Given the description of an element on the screen output the (x, y) to click on. 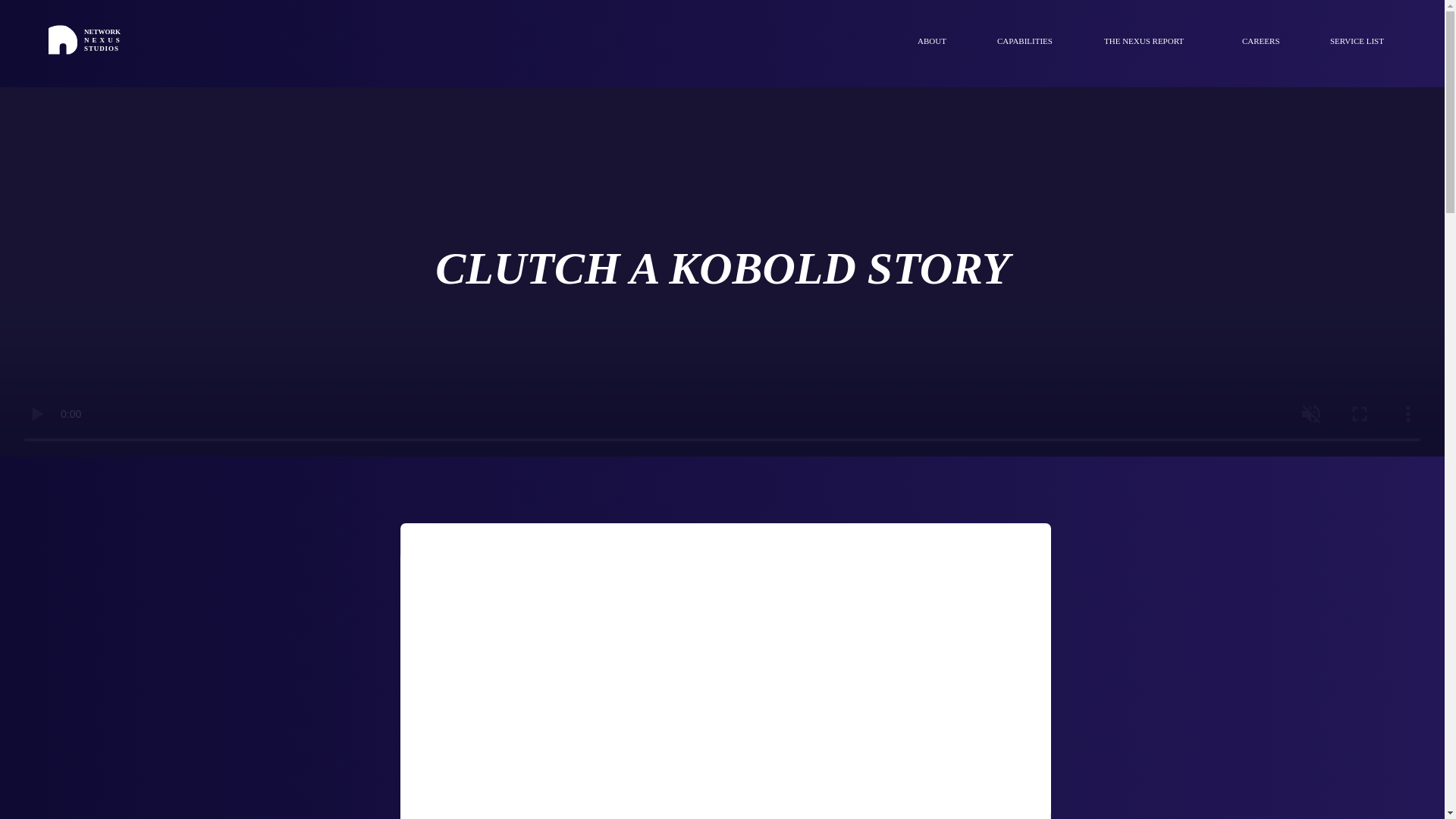
NETWORK NEXUS STUDIOS (103, 39)
SERVICE LIST (1372, 41)
THE NEXUS REPORT (1161, 41)
